Given the description of an element on the screen output the (x, y) to click on. 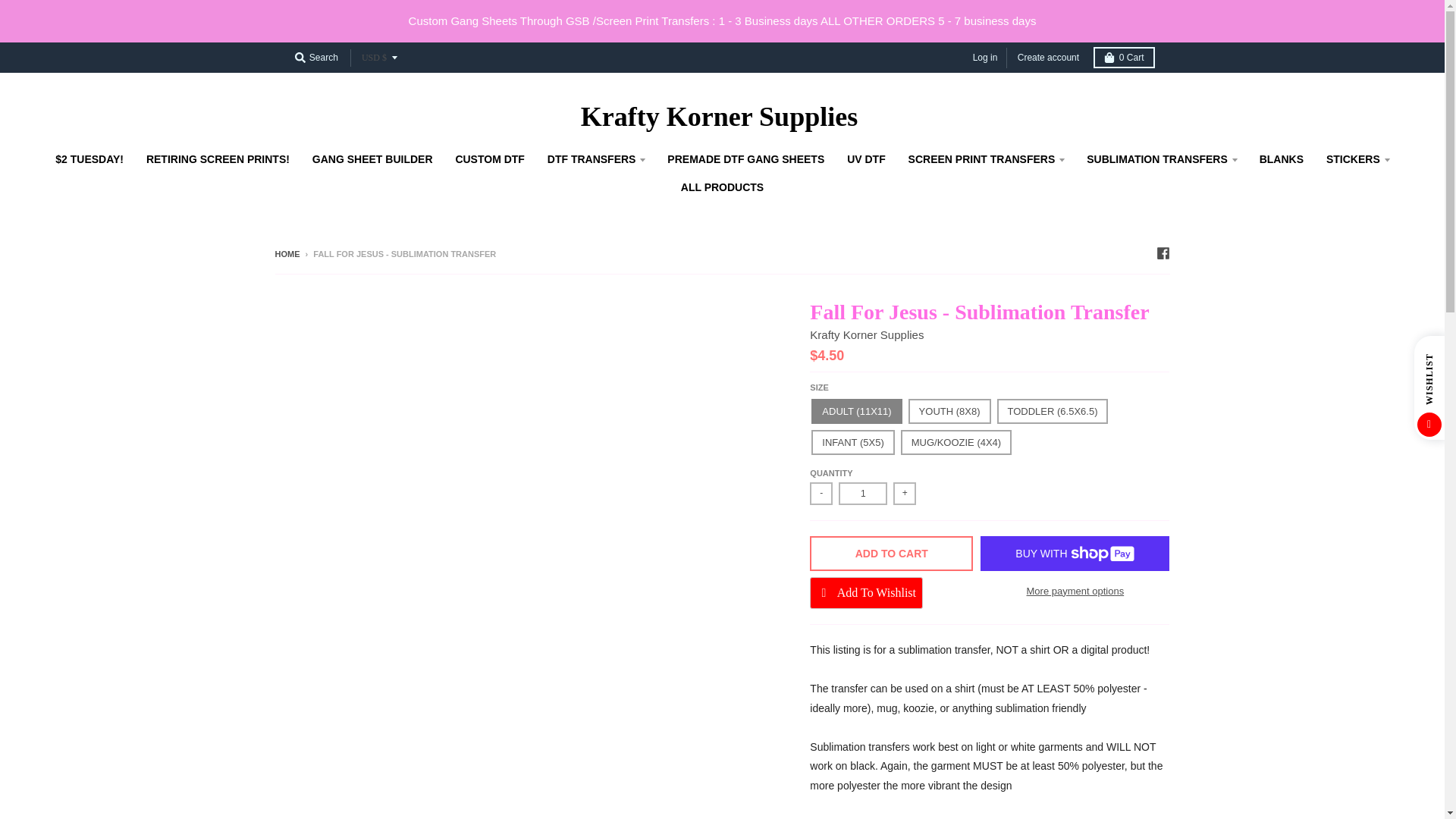
Search (315, 56)
Facebook - Krafty Korner Supplies (1162, 253)
1 (862, 493)
Back to the frontpage (287, 253)
Add to Wishlist (866, 593)
Krafty Korner Supplies (866, 334)
